Given the description of an element on the screen output the (x, y) to click on. 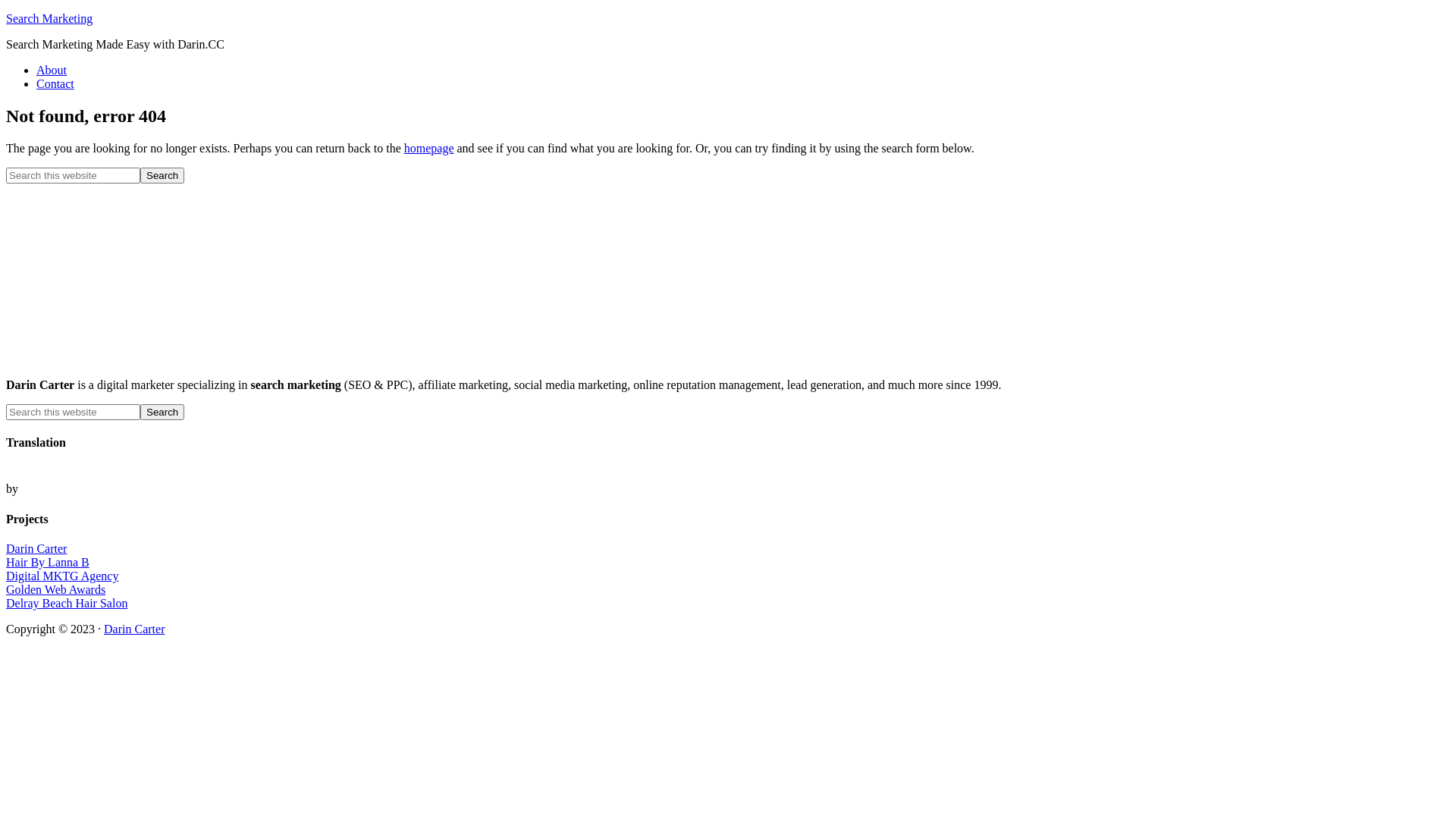
Delray Beach Hair Salon Element type: text (66, 602)
Contact Element type: text (55, 83)
Digital MKTG Agency Element type: text (62, 575)
Search Element type: text (162, 412)
Golden Web Awards Element type: text (55, 589)
Search Element type: text (162, 175)
homepage Element type: text (429, 147)
Darin Carter Element type: text (36, 548)
Darin Carter Element type: text (133, 628)
About Element type: text (51, 69)
Search Marketing Element type: text (49, 18)
Hair By Lanna B Element type: text (47, 561)
